Given the description of an element on the screen output the (x, y) to click on. 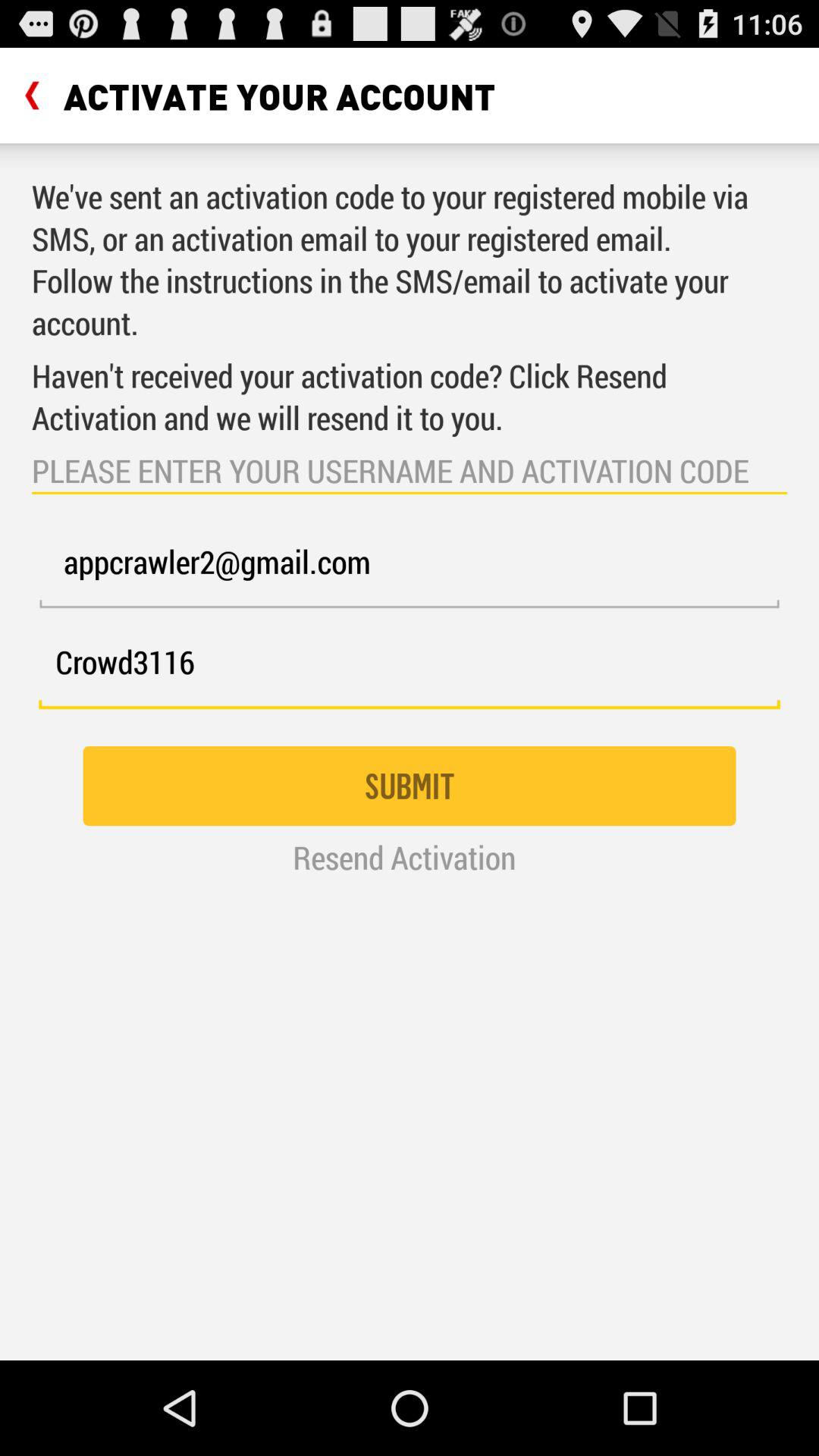
turn off item below please enter your item (409, 570)
